Given the description of an element on the screen output the (x, y) to click on. 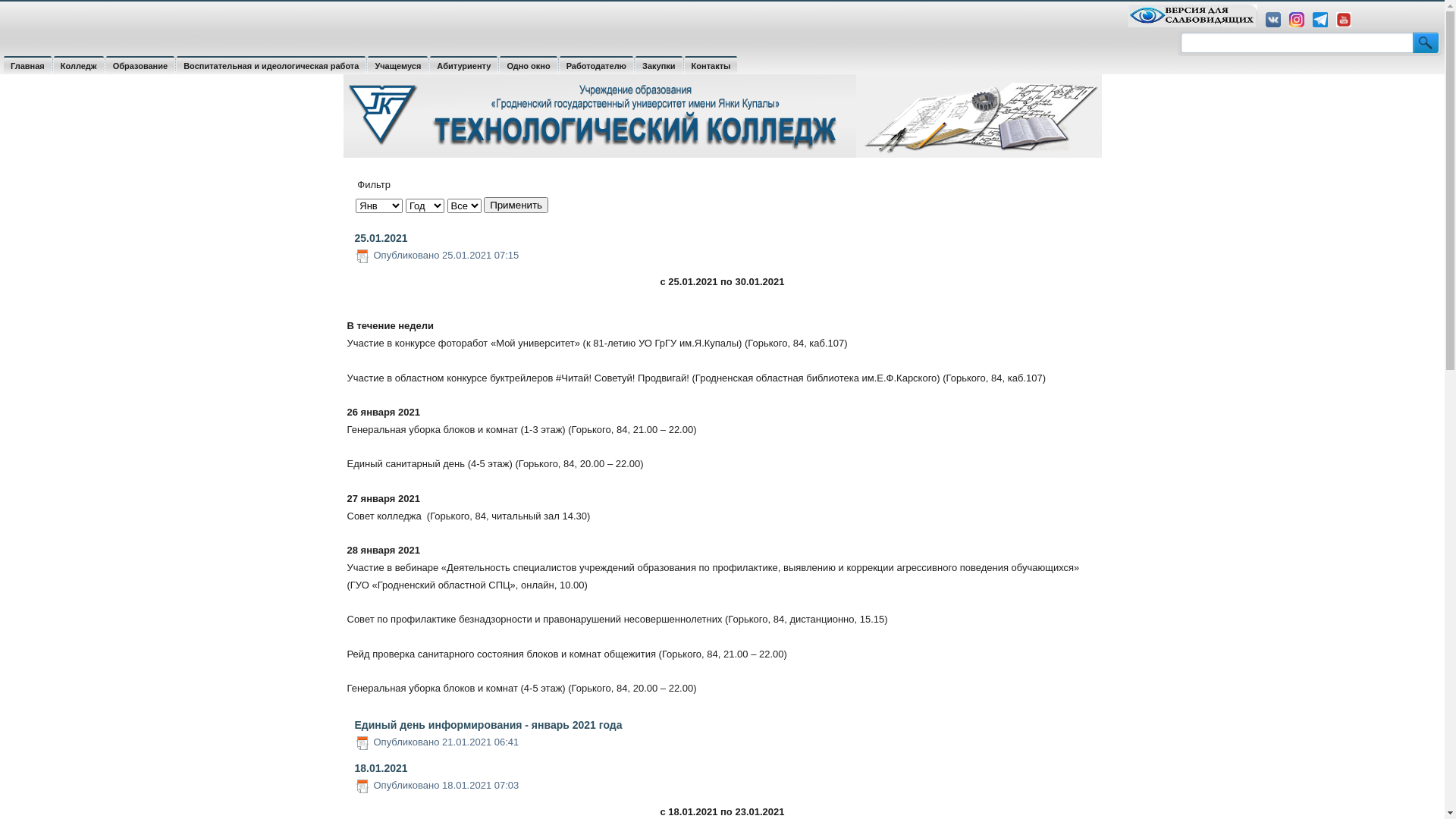
25.01.2021 Element type: text (380, 238)
18.01.2021 Element type: text (380, 768)
